Given the description of an element on the screen output the (x, y) to click on. 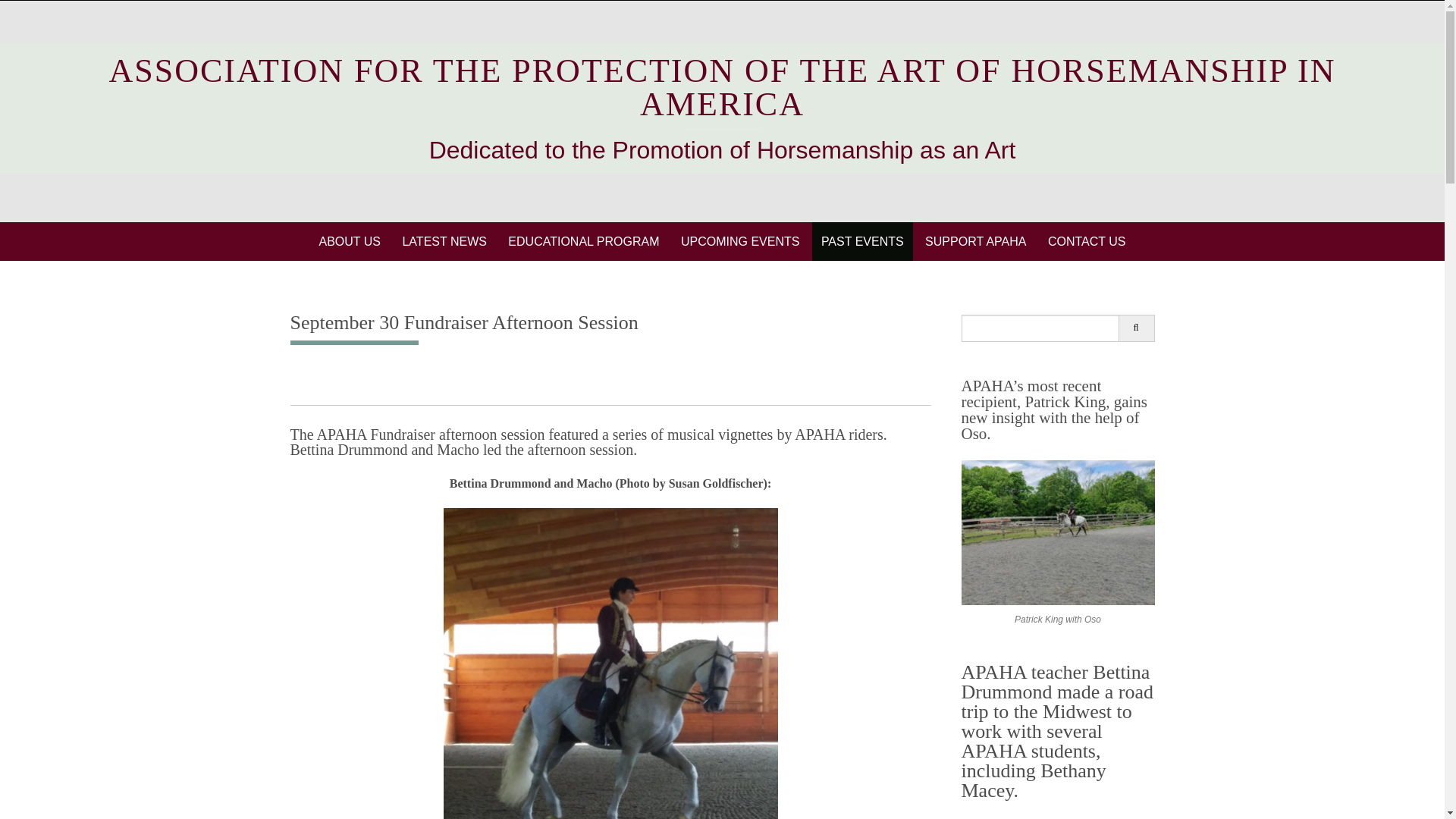
PAST EVENTS (862, 241)
UPCOMING EVENTS (739, 241)
CONTACT US (1087, 241)
EDUCATIONAL PROGRAM (583, 241)
SUPPORT APAHA (975, 241)
LATEST NEWS (444, 241)
ABOUT US (350, 241)
